Given the description of an element on the screen output the (x, y) to click on. 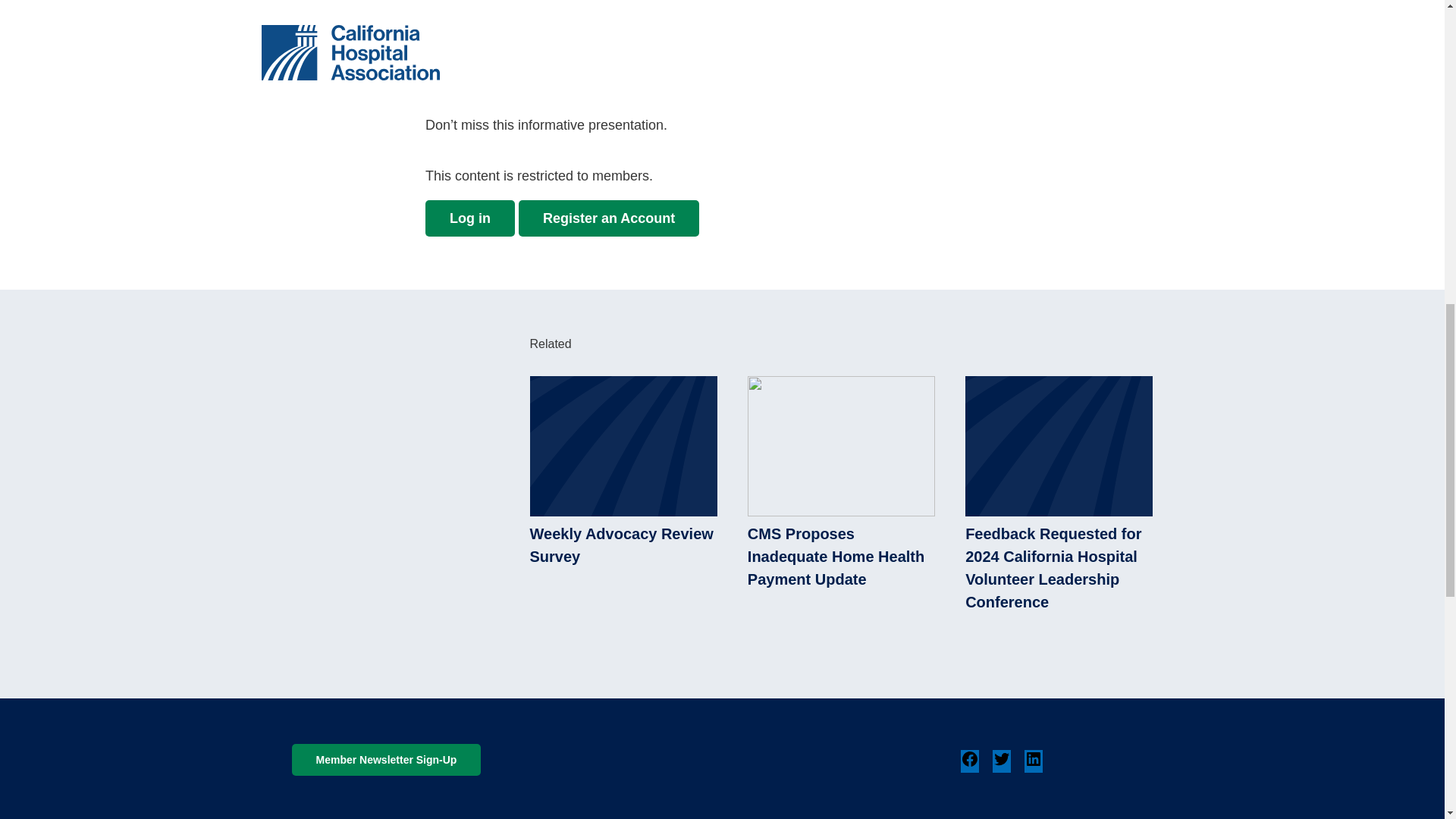
Log in (470, 217)
